Given the description of an element on the screen output the (x, y) to click on. 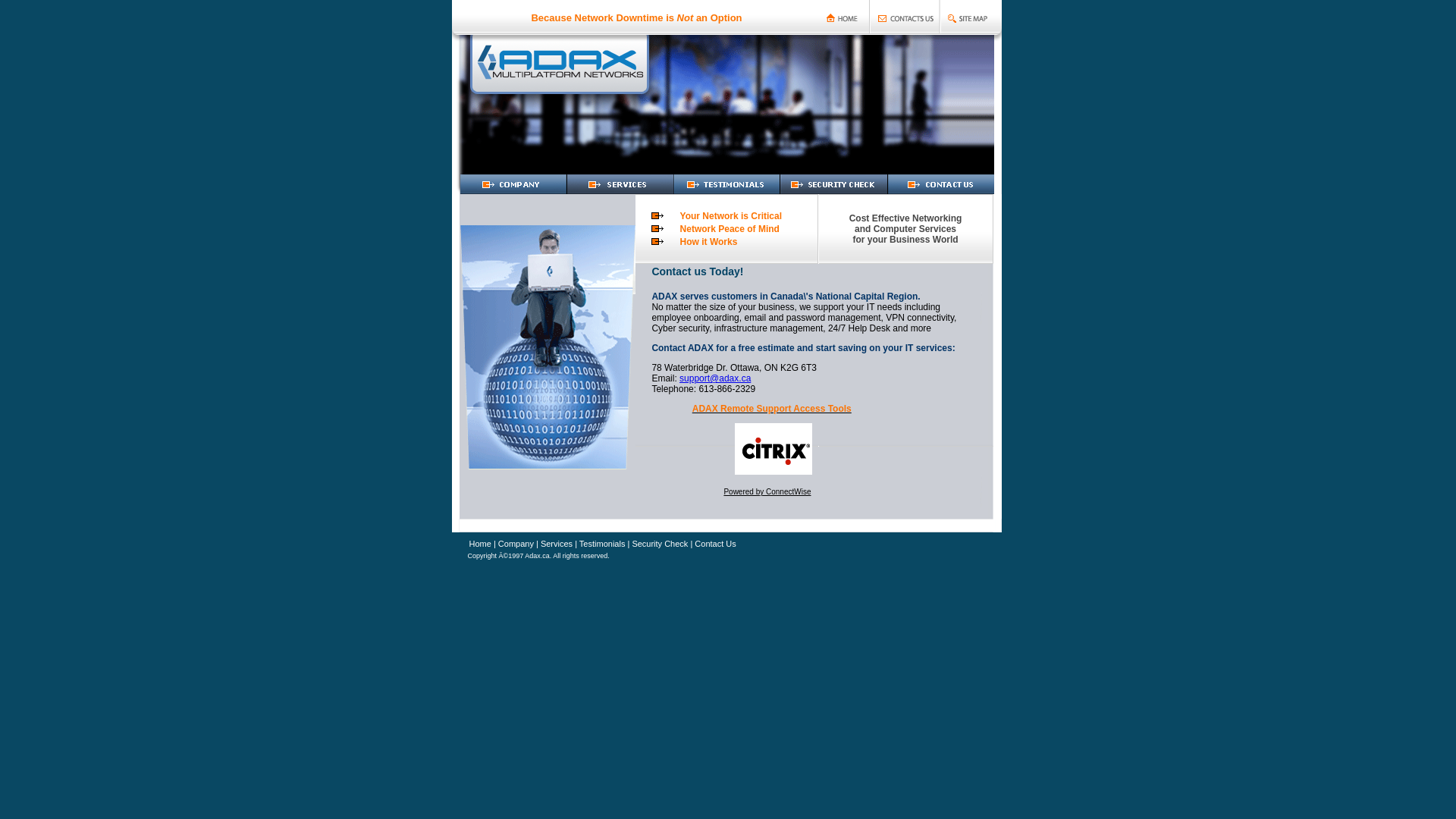
Your Network is Critical Element type: text (730, 215)
Home Element type: text (479, 543)
support@adax.ca Element type: text (714, 378)
Services Element type: text (555, 542)
Network Peace of Mind Element type: text (729, 228)
Contact Us Element type: text (714, 543)
How it Works Element type: text (708, 241)
Company Element type: text (514, 542)
Security Check Element type: text (659, 542)
Testimonials Element type: text (602, 542)
